Given the description of an element on the screen output the (x, y) to click on. 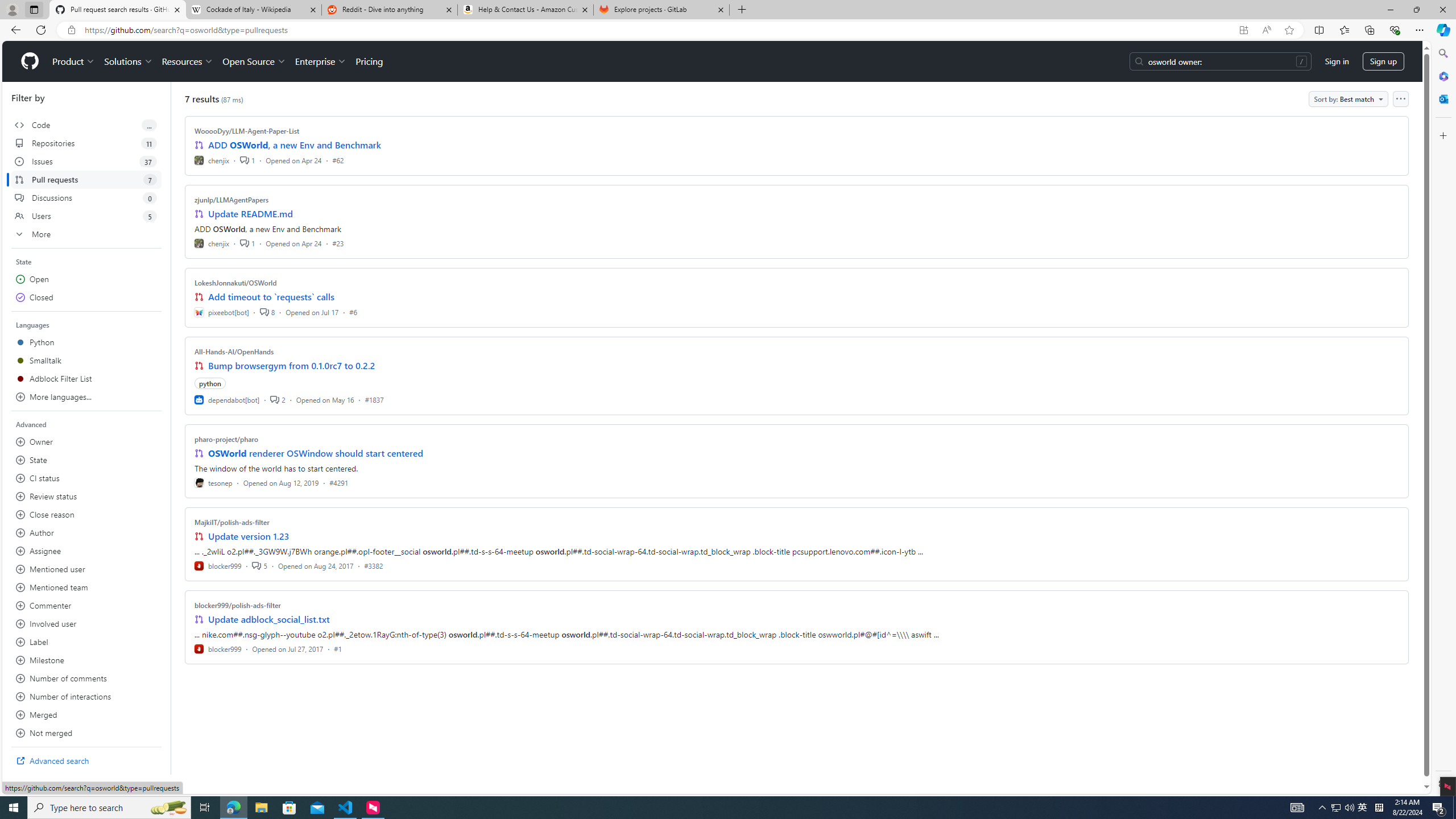
All-Hands-AI/OpenHands (234, 351)
Advanced search (86, 760)
#1 (337, 648)
